Given the description of an element on the screen output the (x, y) to click on. 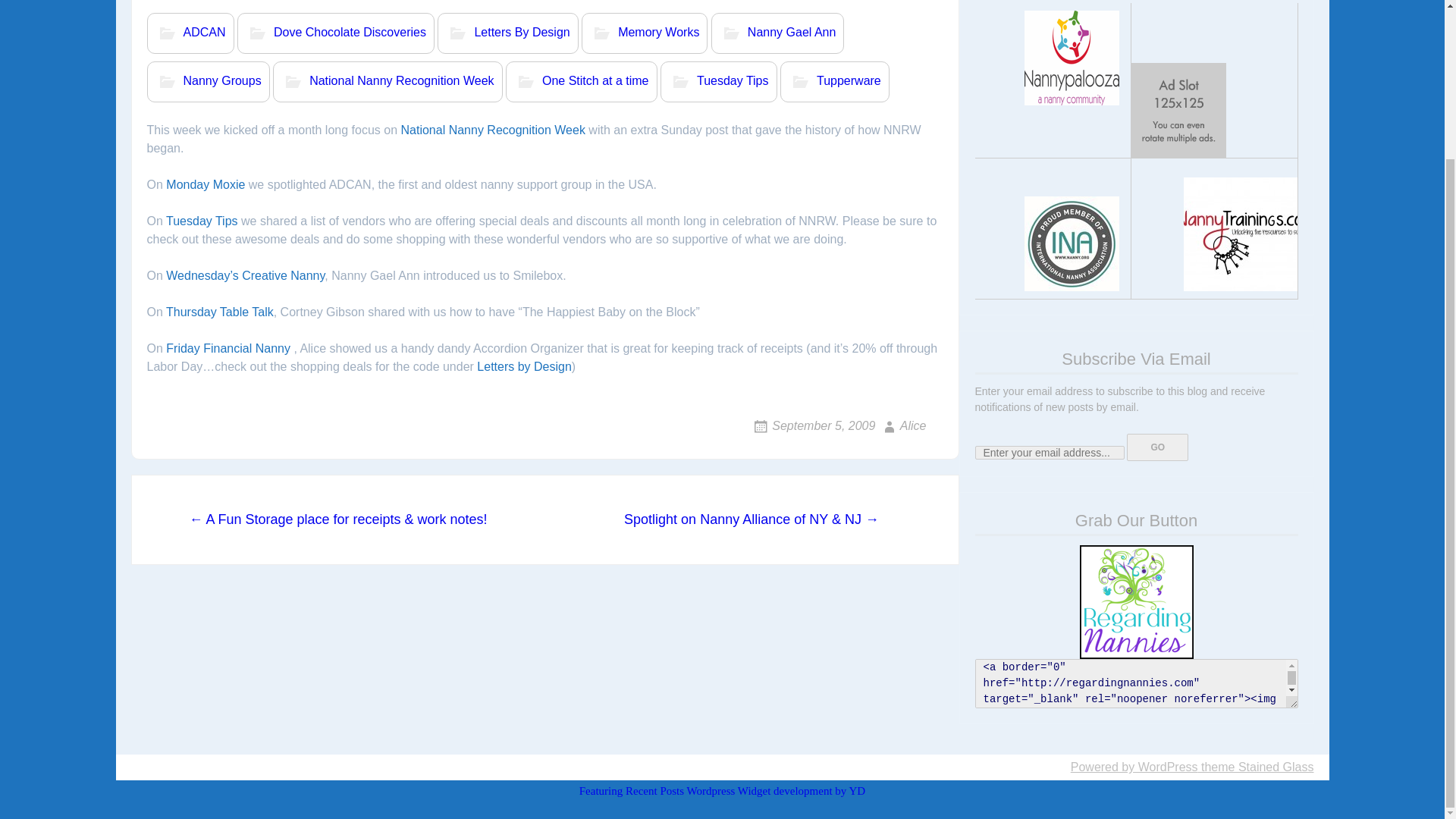
Alice (902, 425)
September 5, 2009 (813, 425)
Go (1157, 447)
